Given the description of an element on the screen output the (x, y) to click on. 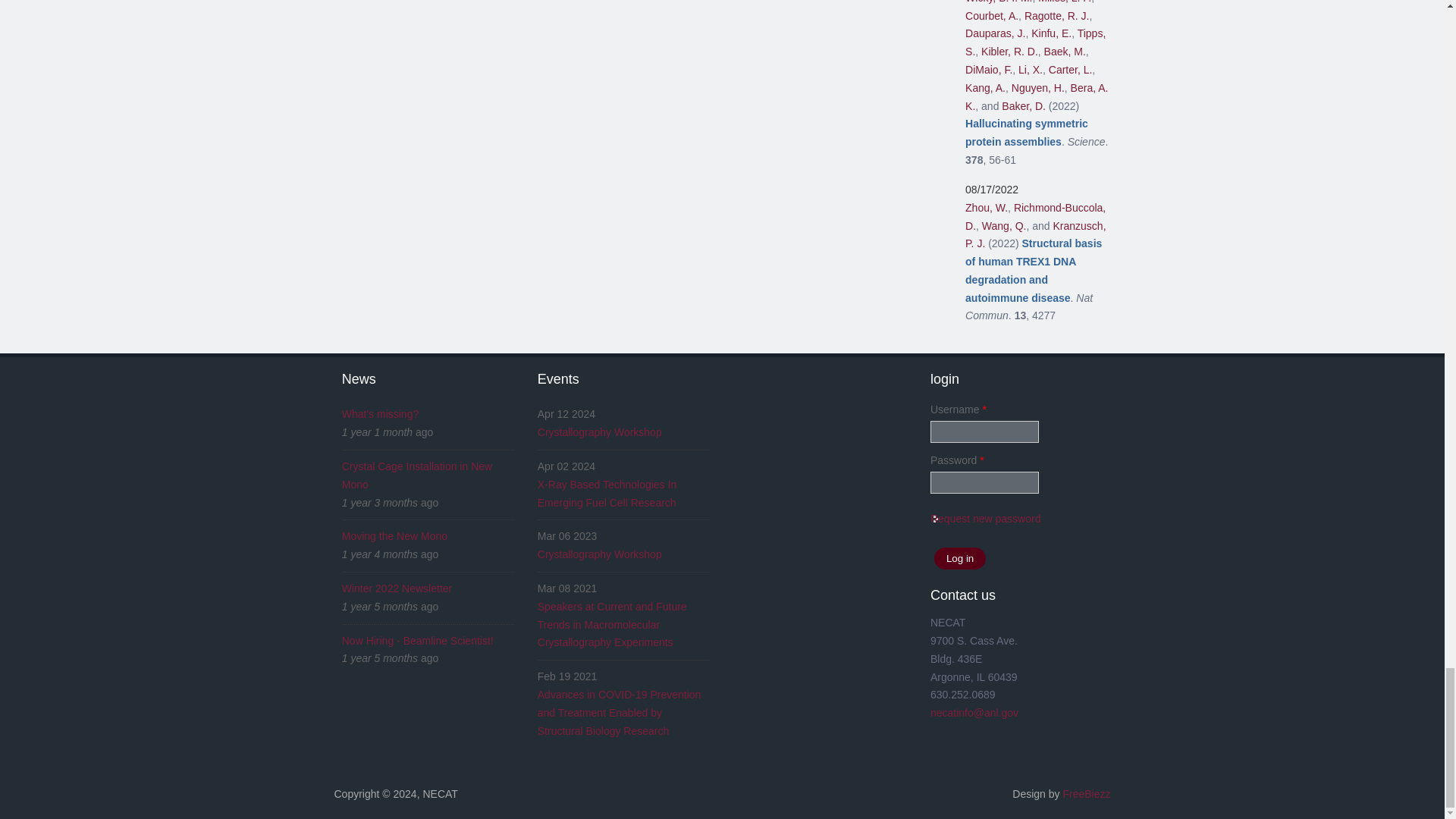
Log in (959, 558)
